Given the description of an element on the screen output the (x, y) to click on. 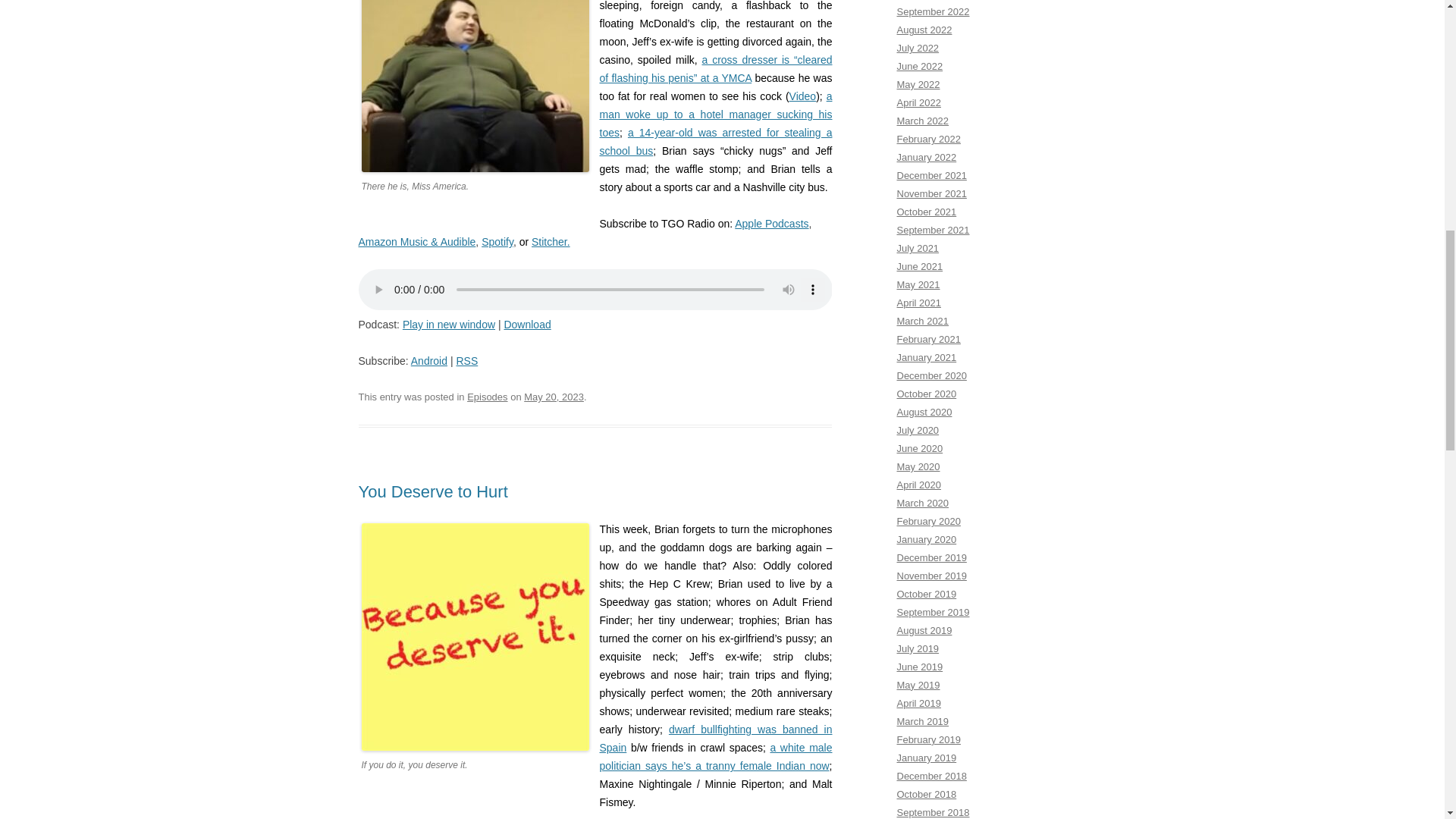
Play in new window (449, 324)
May 20, 2023 (553, 396)
Permalink to You Deserve to Hurt (432, 491)
Play in new window (449, 324)
RSS (466, 360)
Episodes (486, 396)
Download (526, 324)
Video (802, 96)
Android (428, 360)
Apple Podcasts (771, 223)
Spotify (497, 241)
Subscribe via RSS (466, 360)
a man woke up to a hotel manager sucking his toes (714, 114)
Subscribe on Android (428, 360)
a 14-year-old was arrested for stealing a school bus (714, 141)
